Given the description of an element on the screen output the (x, y) to click on. 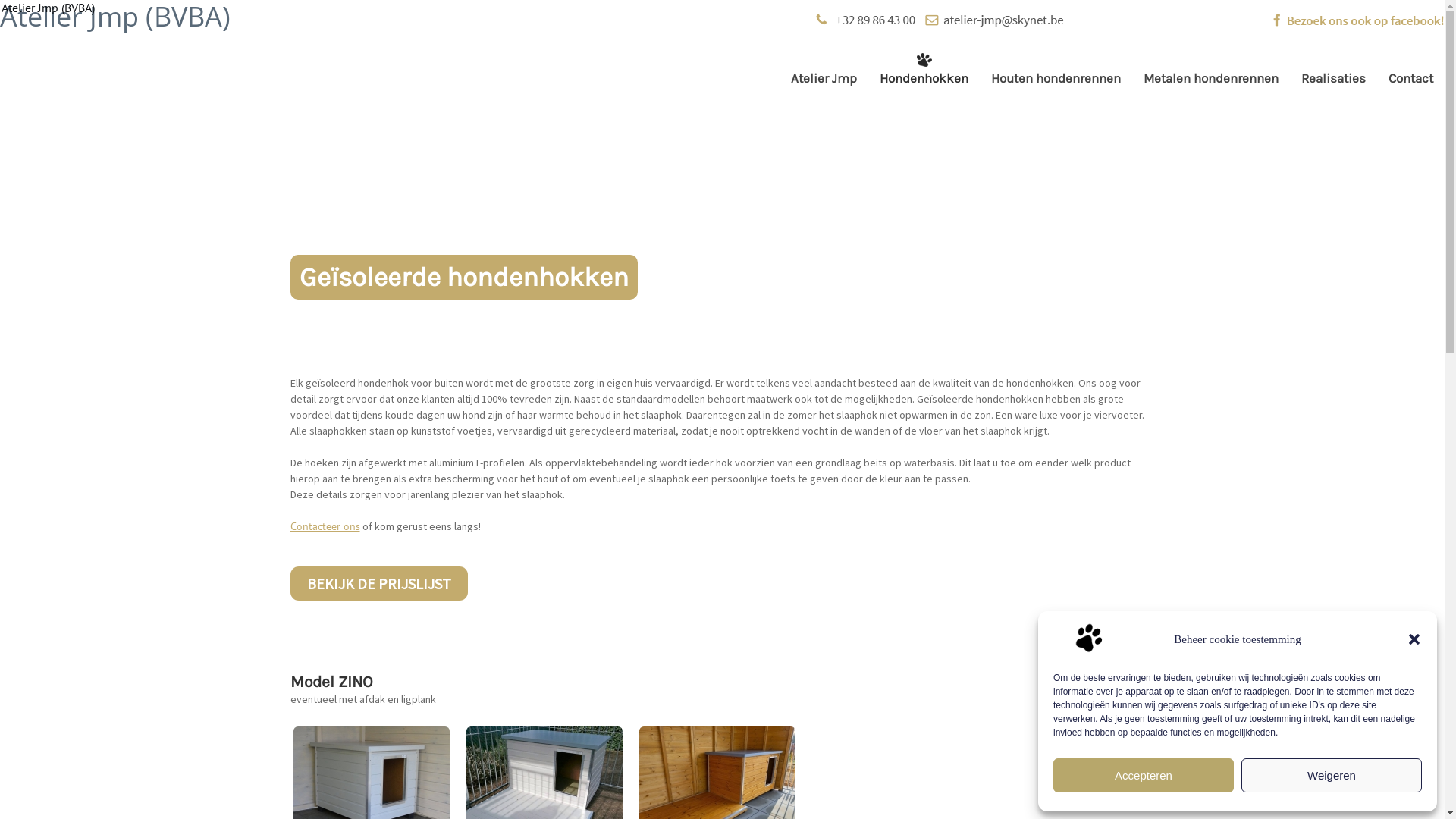
Atelier Jmp Element type: text (823, 78)
Contacteer ons Element type: text (324, 526)
Contact Element type: text (1410, 78)
Accepteren Element type: text (1143, 775)
BEKIJK DE PRIJSLIJST Element type: text (378, 583)
Weigeren Element type: text (1331, 775)
Realisaties Element type: text (1333, 78)
Houten hondenrennen Element type: text (1055, 78)
Hondenhokken Element type: text (923, 78)
Metalen hondenrennen Element type: text (1210, 78)
